Given the description of an element on the screen output the (x, y) to click on. 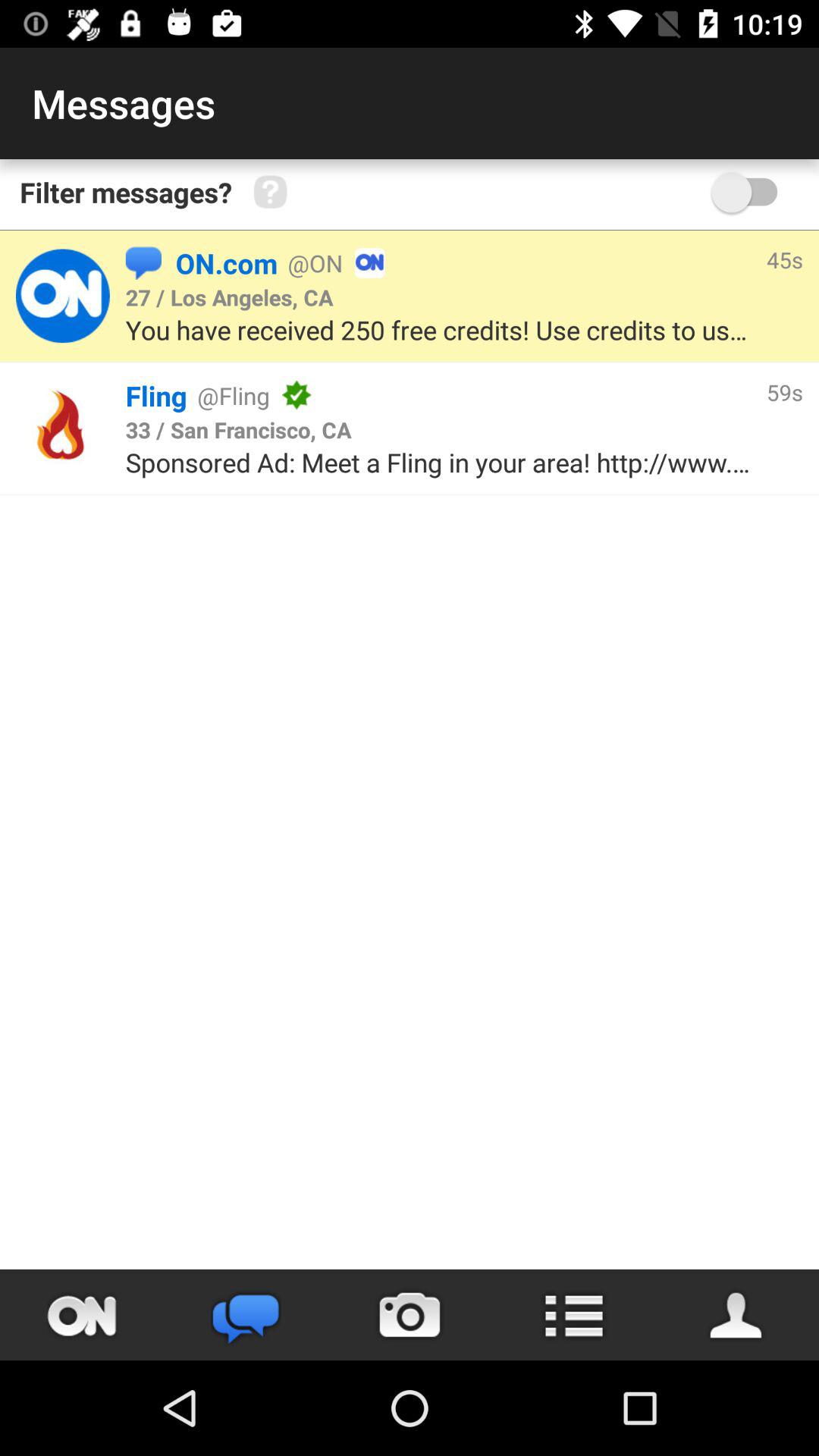
the page of on (62, 295)
